Given the description of an element on the screen output the (x, y) to click on. 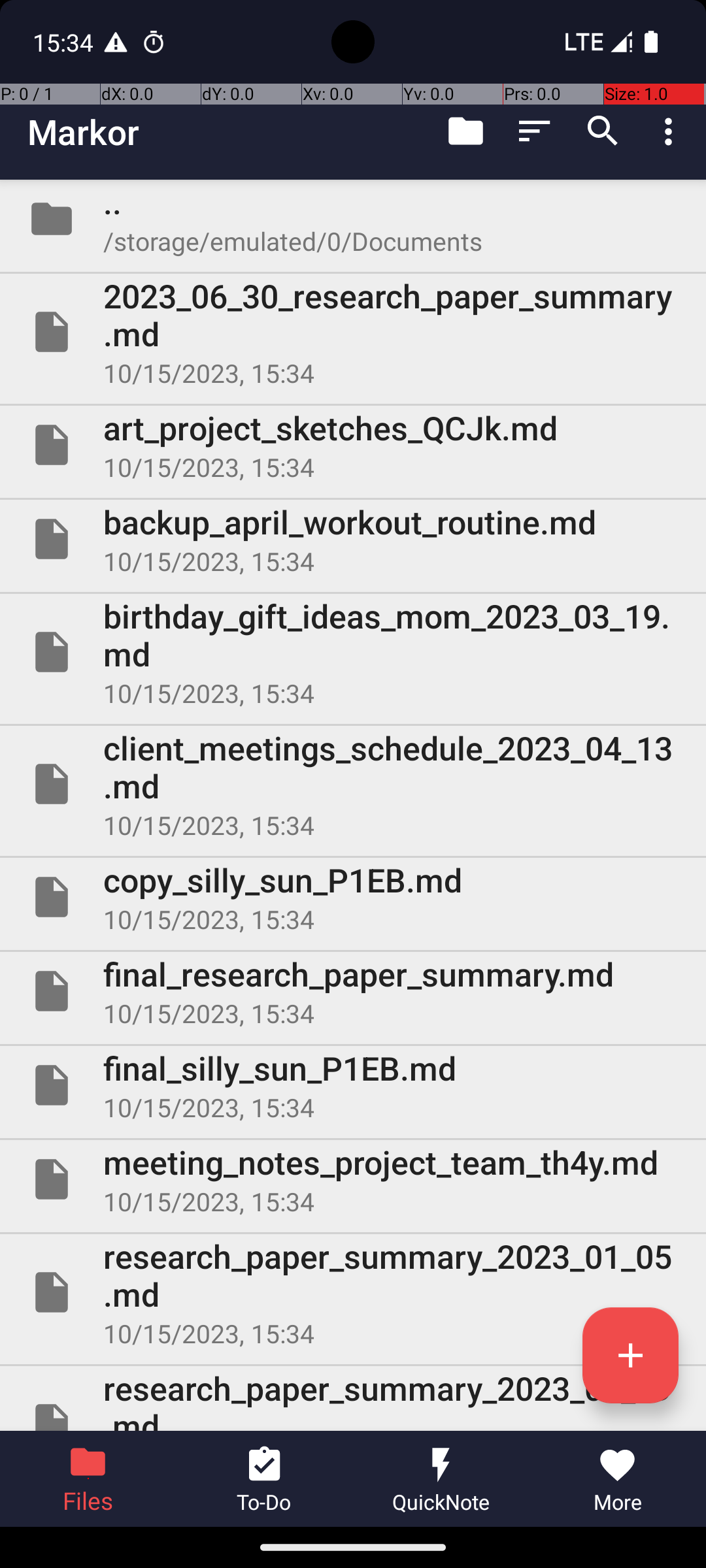
Create a new file or folder Element type: android.widget.ImageButton (630, 1355)
Go to Element type: android.widget.TextView (465, 131)
Sort by Element type: android.widget.TextView (534, 131)
Folder ..  Element type: android.widget.LinearLayout (353, 218)
File 2023_06_30_research_paper_summary.md  Element type: android.widget.LinearLayout (353, 331)
File art_project_sketches_QCJk.md  Element type: android.widget.LinearLayout (353, 444)
File backup_april_workout_routine.md  Element type: android.widget.LinearLayout (353, 538)
File birthday_gift_ideas_mom_2023_03_19.md  Element type: android.widget.LinearLayout (353, 651)
File client_meetings_schedule_2023_04_13.md  Element type: android.widget.LinearLayout (353, 783)
File copy_silly_sun_P1EB.md  Element type: android.widget.LinearLayout (353, 896)
File final_research_paper_summary.md  Element type: android.widget.LinearLayout (353, 990)
File final_silly_sun_P1EB.md  Element type: android.widget.LinearLayout (353, 1084)
File meeting_notes_project_team_th4y.md  Element type: android.widget.LinearLayout (353, 1179)
File research_paper_summary_2023_01_05.md  Element type: android.widget.LinearLayout (353, 1292)
File research_paper_summary_2023_03_09.md  Element type: android.widget.LinearLayout (353, 1398)
